Given the description of an element on the screen output the (x, y) to click on. 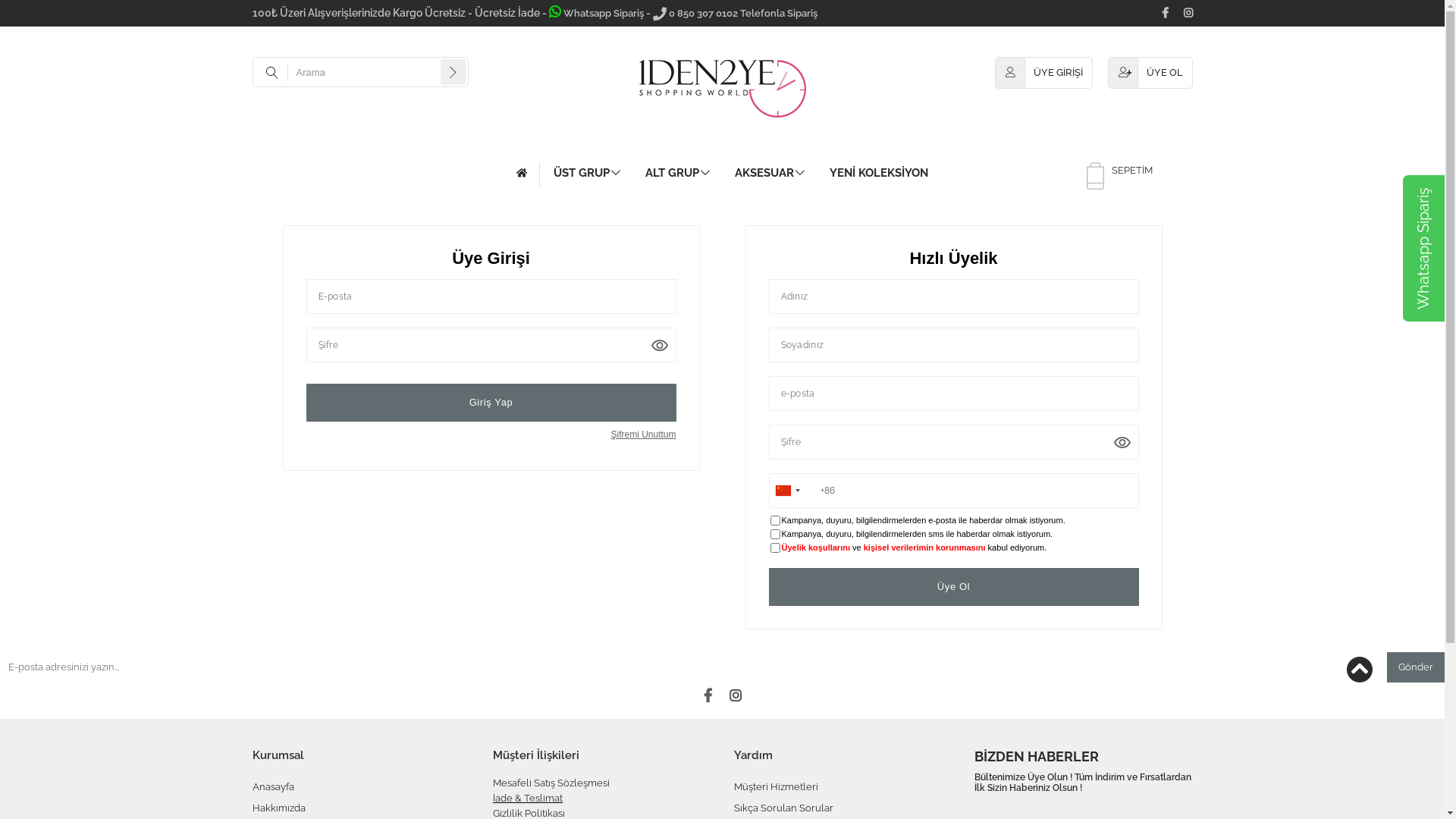
ALT GRUP Element type: text (677, 172)
Anasayfa Element type: text (527, 175)
Ara Element type: text (453, 71)
AKSESUAR Element type: text (769, 172)
SEPETIM Element type: text (1130, 169)
Ara Element type: hover (453, 71)
Anasayfa Element type: text (272, 786)
